Given the description of an element on the screen output the (x, y) to click on. 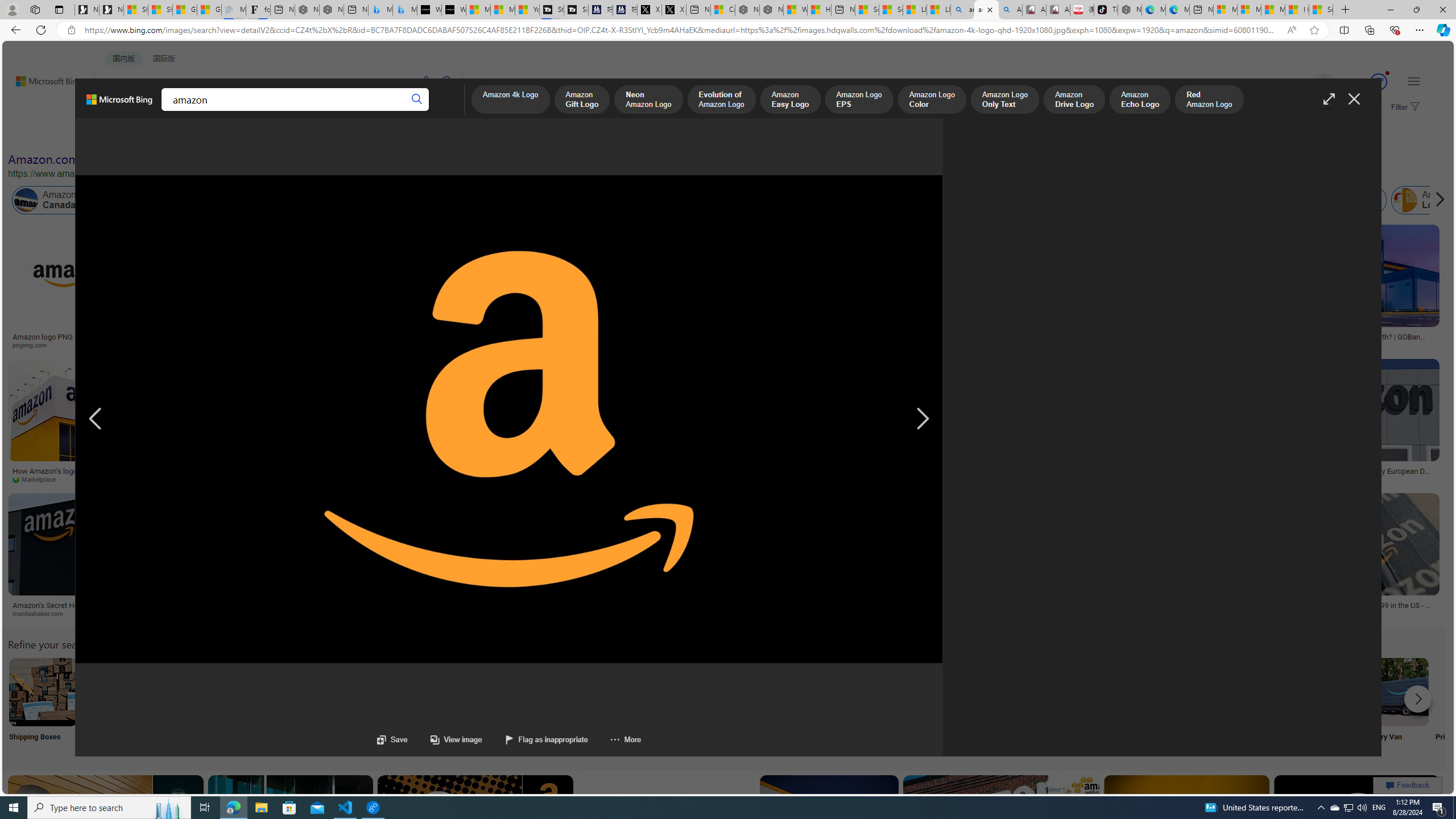
Amazon Logo Png Hd Wallpaper | Images and Photos finder (513, 340)
Amazon (466, 605)
Dallas Morning News (388, 479)
Amazon Visa Card Login (1093, 691)
Filter (1403, 107)
protothema.gr (408, 612)
Prime Shopping Online (944, 706)
GOBankingRates (1355, 344)
hdqwalls.com (1184, 344)
Mini TV (794, 706)
downdetector.ae (860, 344)
